Given the description of an element on the screen output the (x, y) to click on. 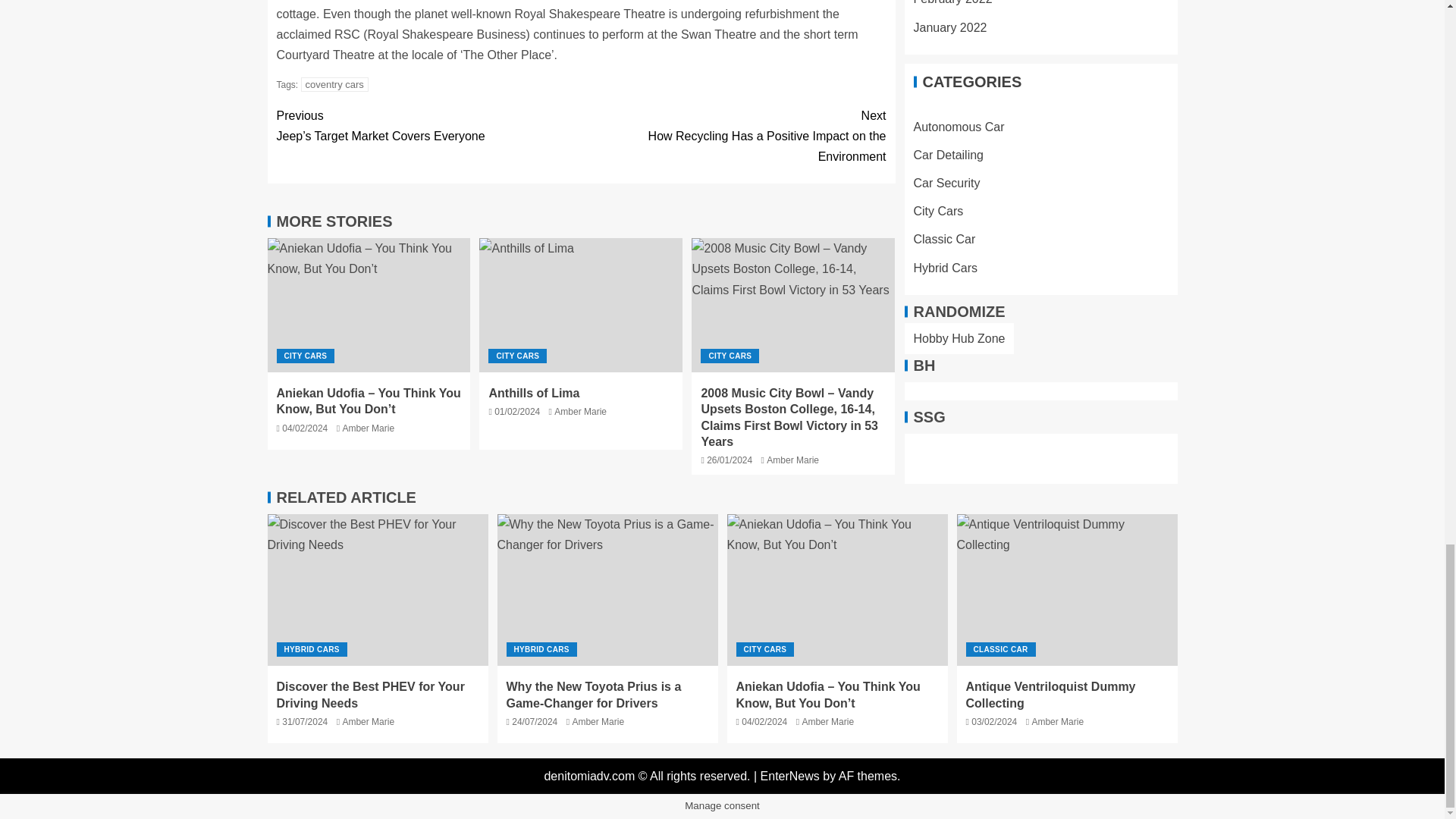
Amber Marie (792, 460)
Amber Marie (580, 411)
Antique Ventriloquist Dummy Collecting (1066, 589)
coventry cars (334, 83)
Anthills of Lima (533, 392)
Anthills of Lima (580, 305)
Why the New Toyota Prius is a Game-Changer for Drivers (732, 136)
CITY CARS (607, 589)
CITY CARS (517, 355)
Discover the Best PHEV for Your Driving Needs (729, 355)
CITY CARS (376, 589)
Amber Marie (305, 355)
